Given the description of an element on the screen output the (x, y) to click on. 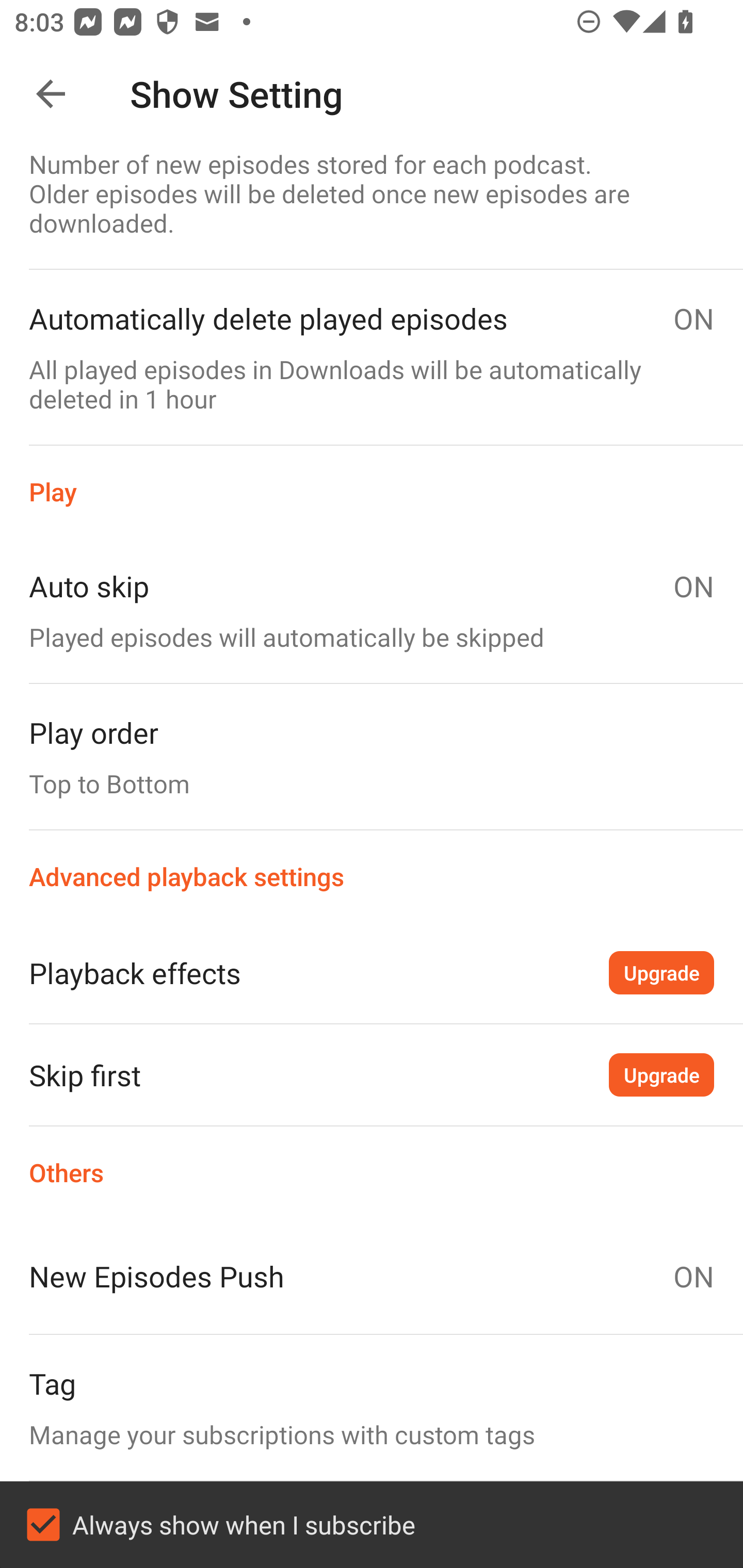
Navigate up (50, 93)
Play order Top to Bottom (371, 756)
Playback effects Upgrade (371, 972)
Skip first Upgrade (371, 1074)
New Episodes Push ON (371, 1276)
Tag Manage your subscriptions with custom tags (371, 1407)
Always show when I subscribe (371, 1524)
